Given the description of an element on the screen output the (x, y) to click on. 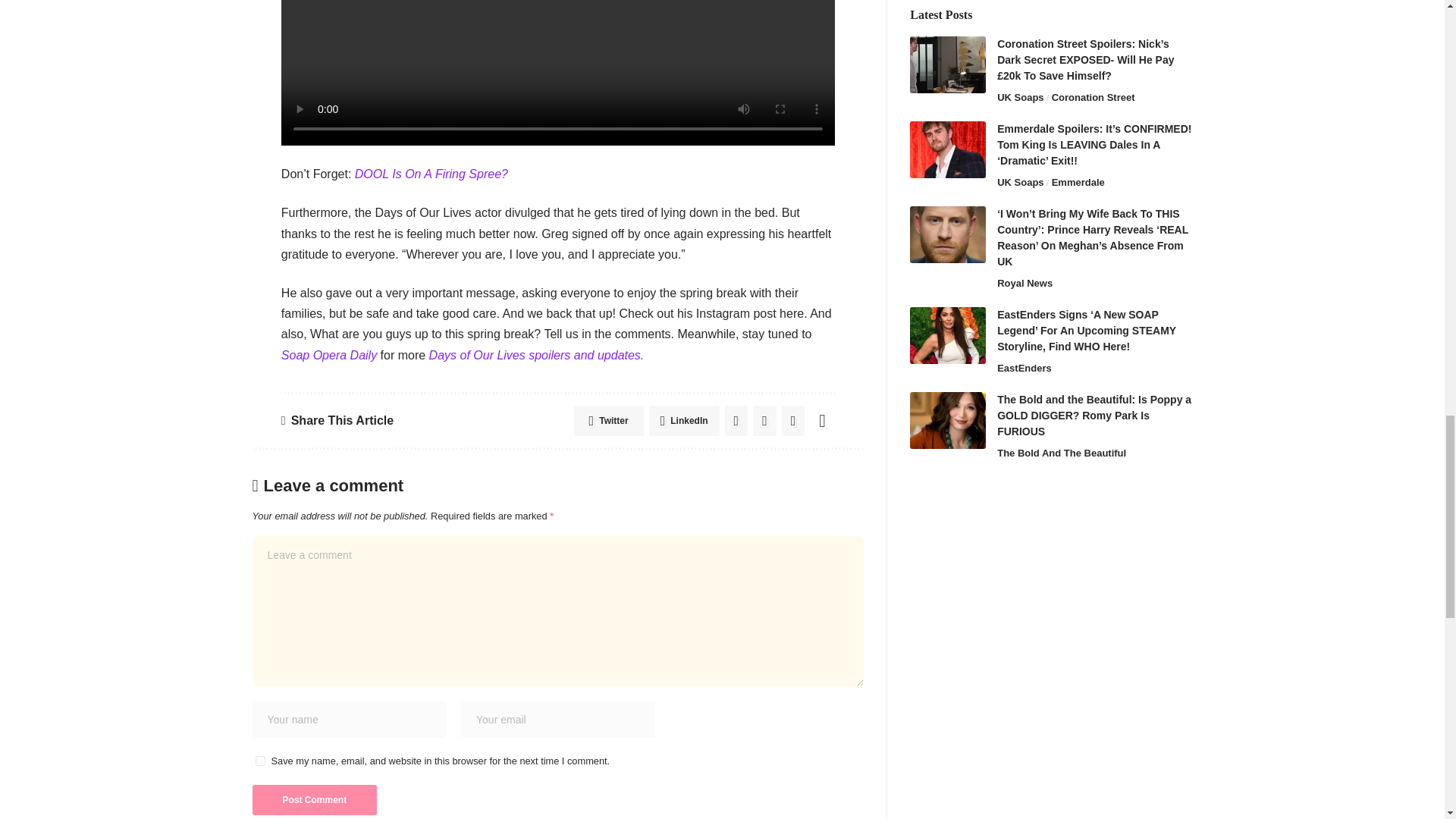
Post Comment (314, 799)
yes (259, 760)
